Given the description of an element on the screen output the (x, y) to click on. 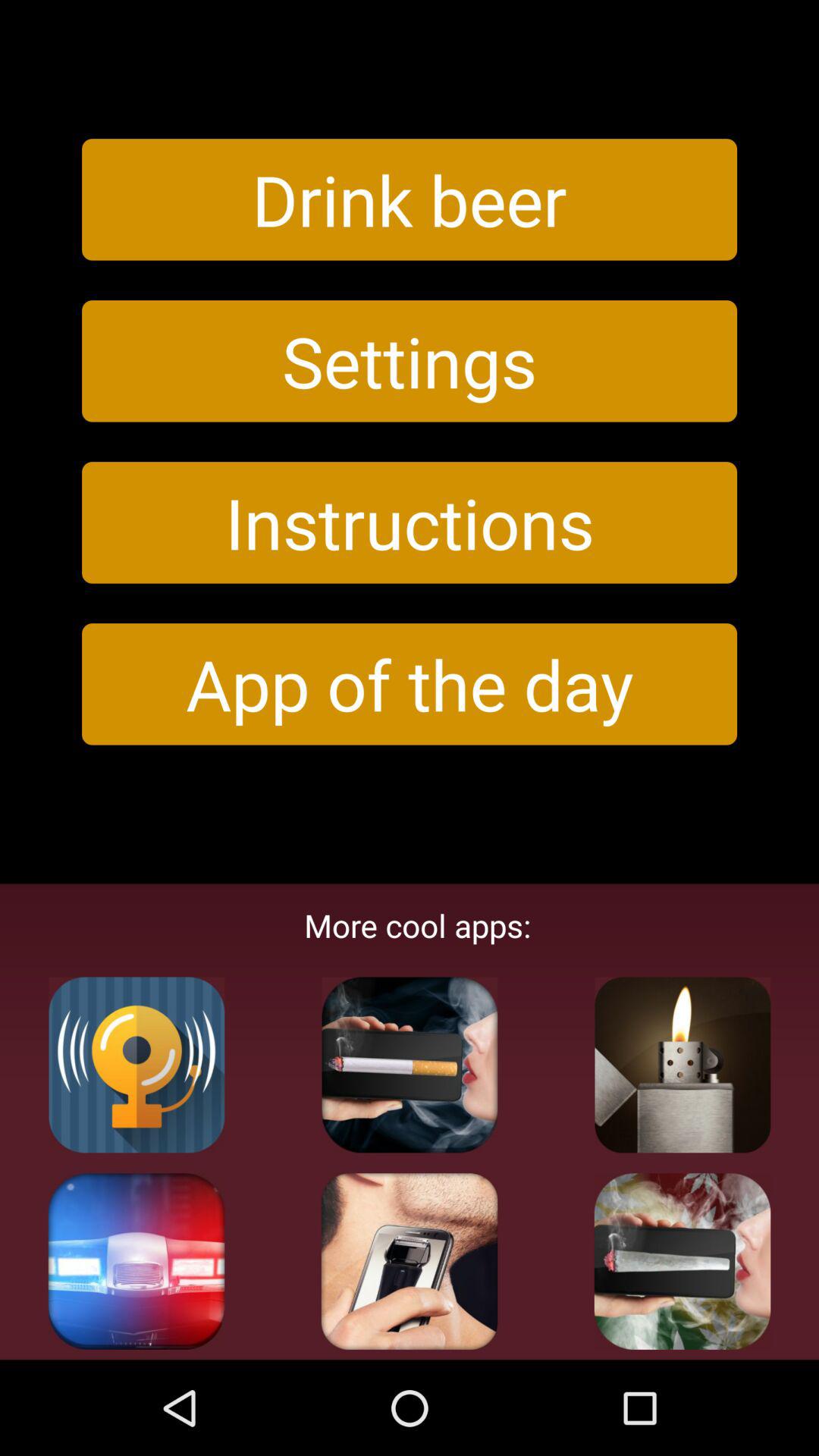
open the button below the instructions item (409, 684)
